Given the description of an element on the screen output the (x, y) to click on. 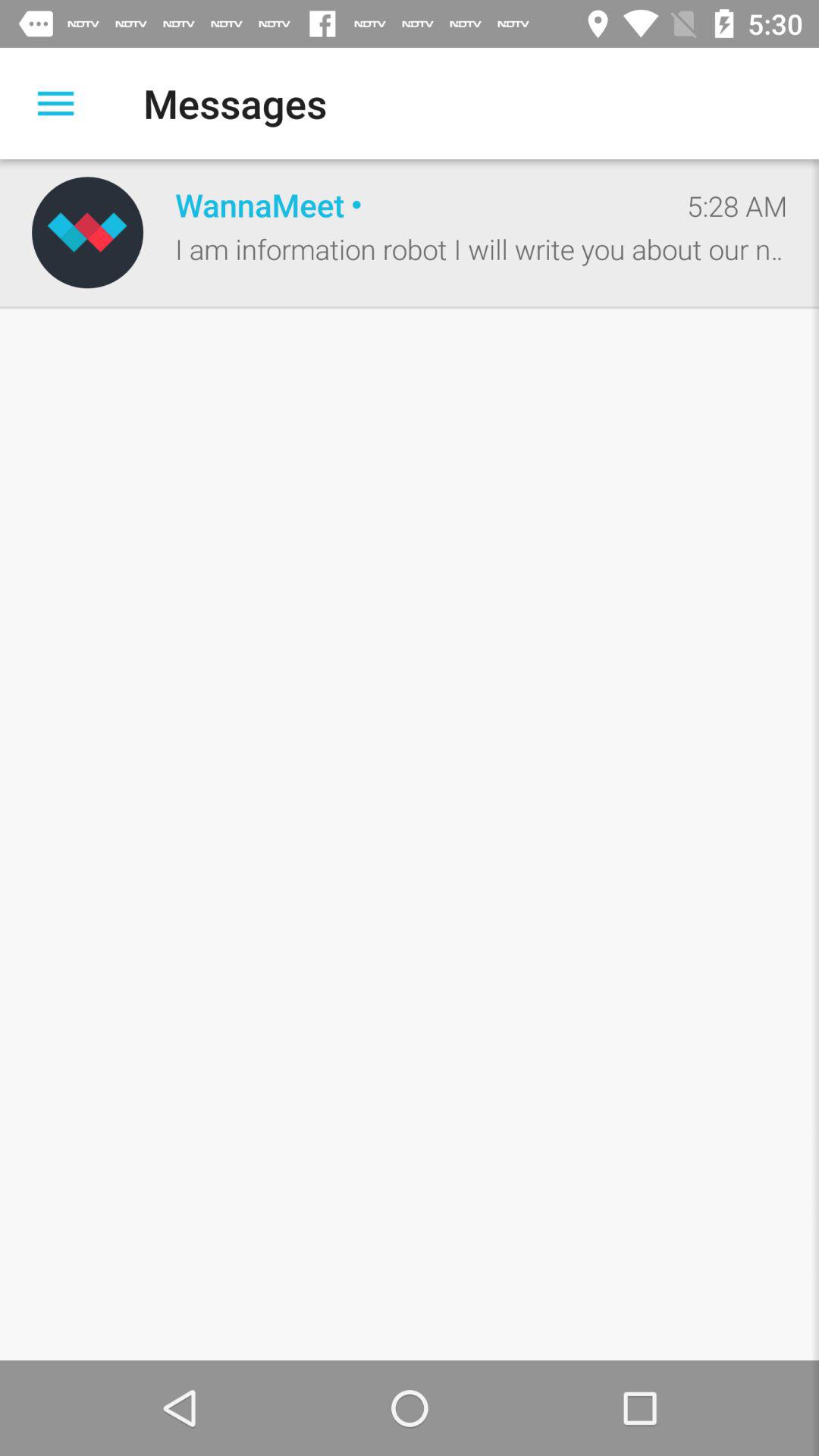
flip to wannameet (415, 204)
